Given the description of an element on the screen output the (x, y) to click on. 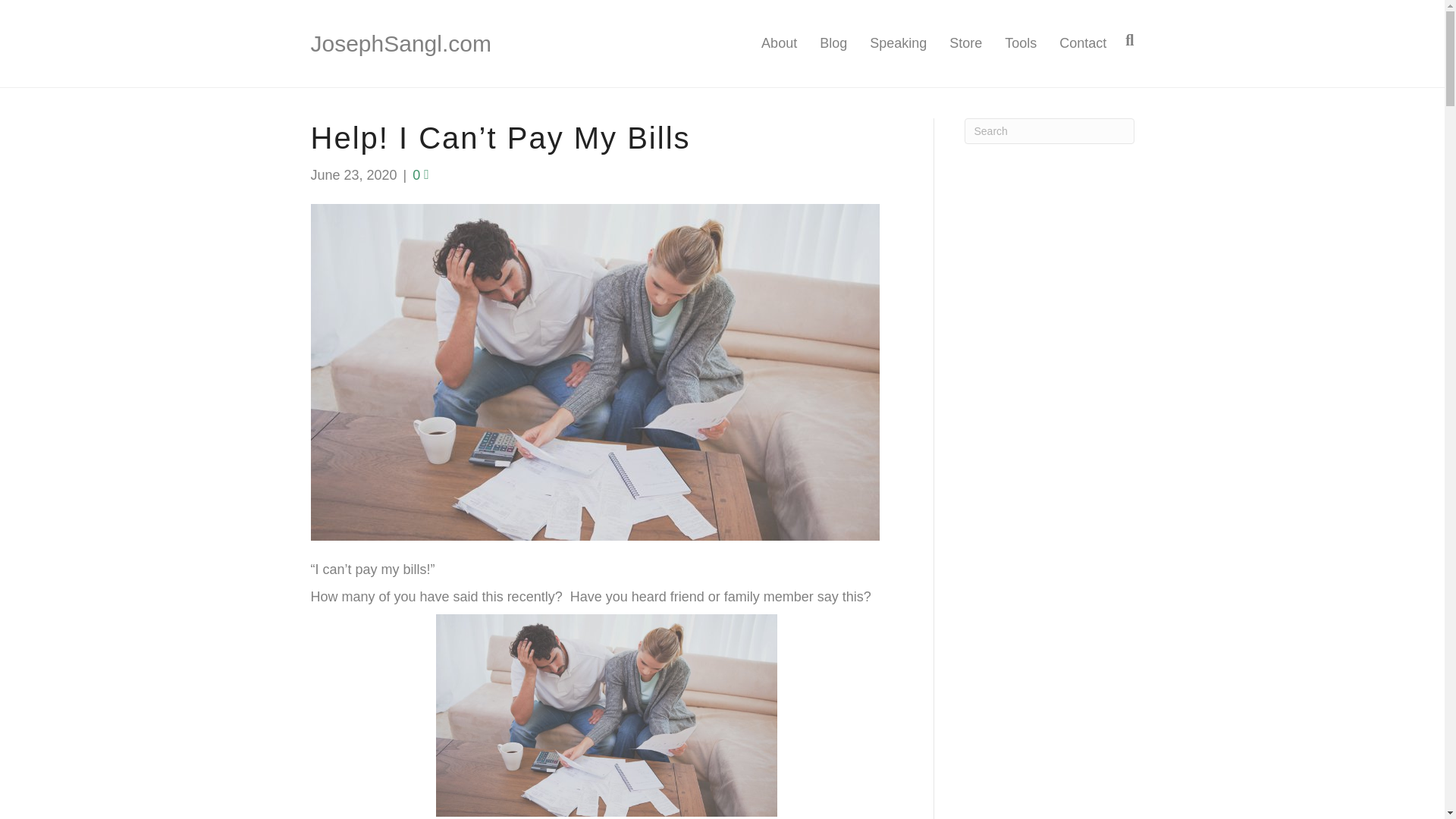
Tools (1020, 43)
Speaking (898, 43)
Store (964, 43)
Search (1048, 130)
JosephSangl.com (442, 43)
0 (420, 174)
Blog (833, 43)
Search (1048, 130)
About (778, 43)
Contact (1077, 43)
